Given the description of an element on the screen output the (x, y) to click on. 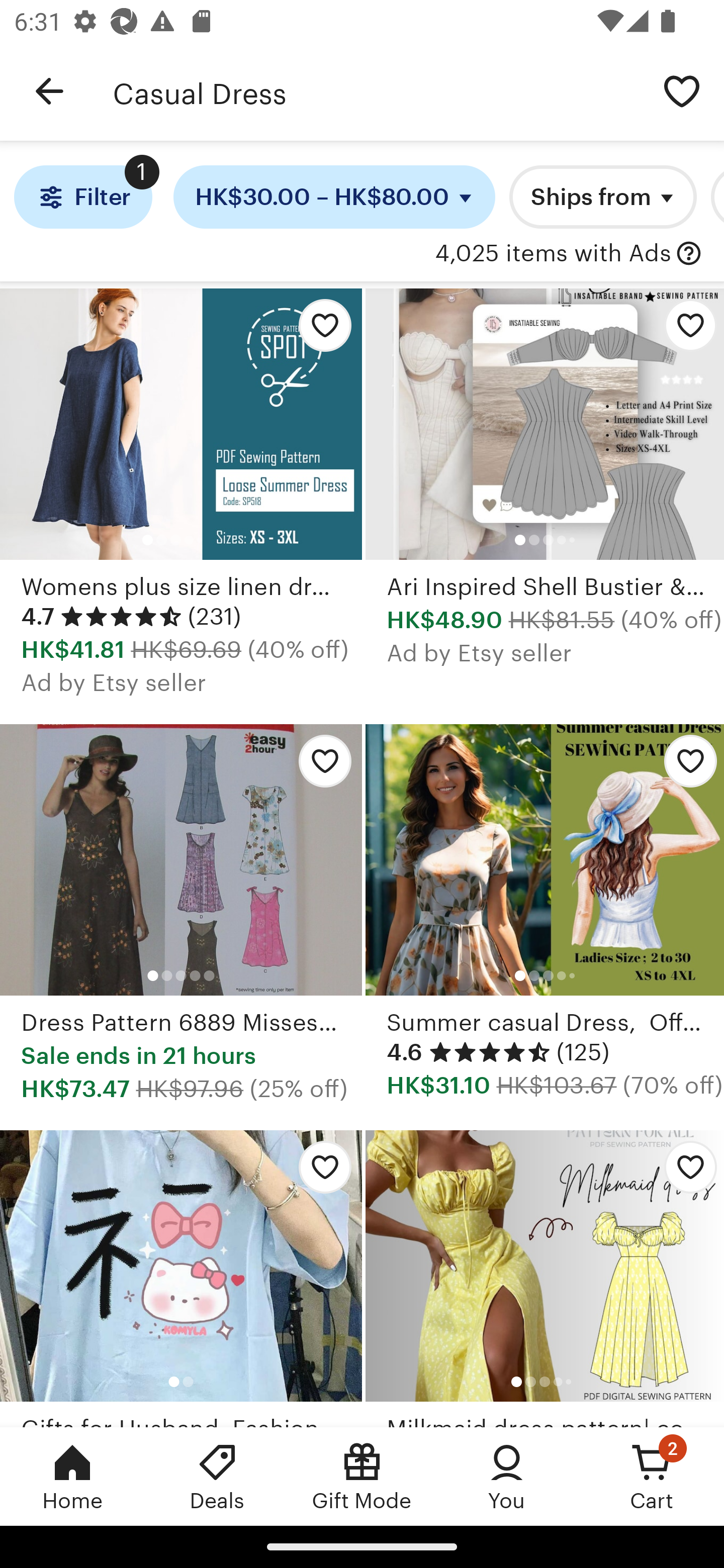
Navigate up (49, 91)
Save search (681, 90)
Casual Dress (375, 91)
Filter (82, 197)
HK$30.00 – HK$80.00 (334, 197)
Ships from (602, 197)
4,025 items with Ads (553, 253)
with Ads (688, 253)
Deals (216, 1475)
Gift Mode (361, 1475)
You (506, 1475)
Cart, 2 new notifications Cart (651, 1475)
